Given the description of an element on the screen output the (x, y) to click on. 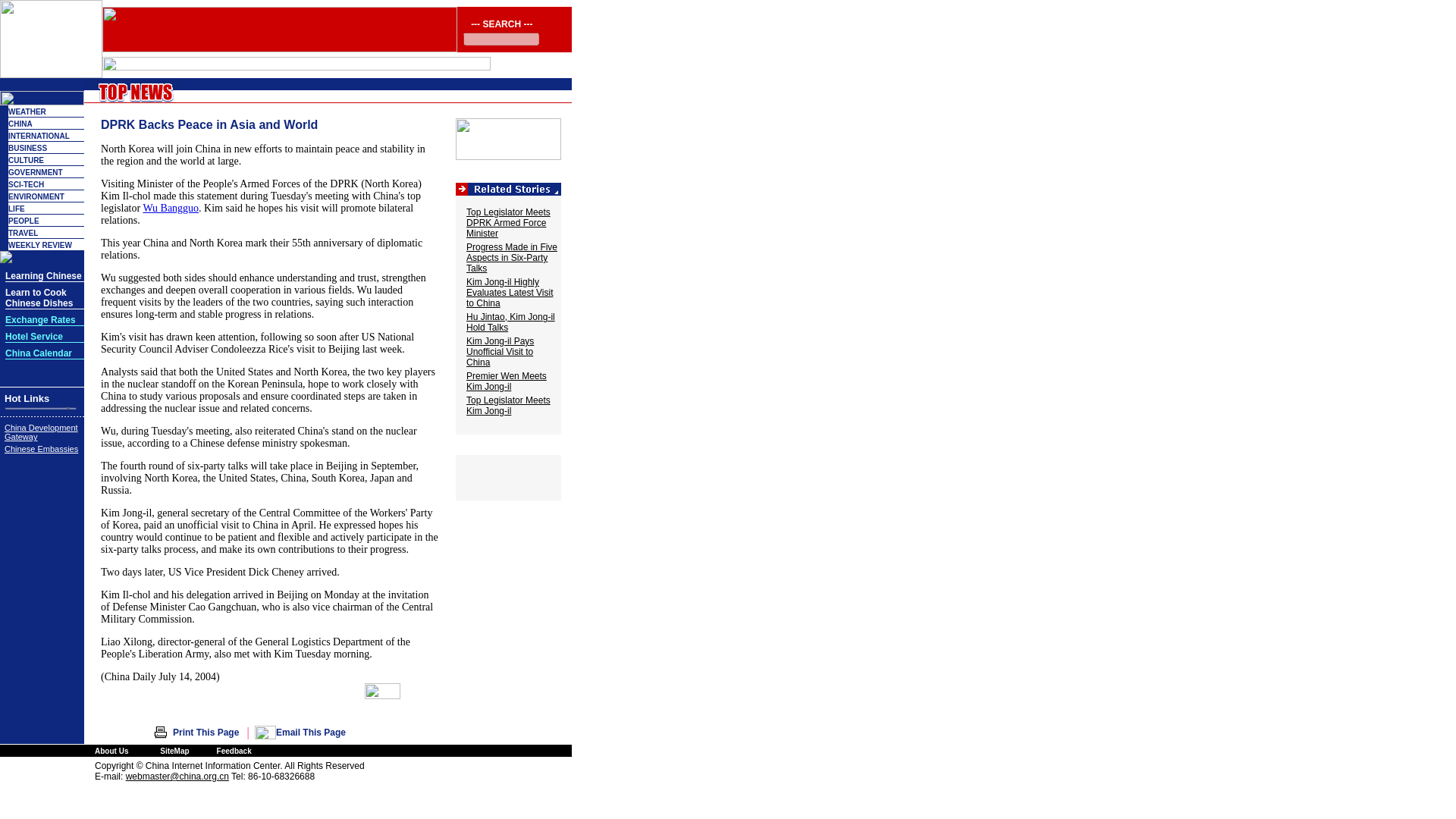
LIFE (16, 208)
WEATHER (27, 111)
ENVIRONMENT (36, 196)
Learn to Cook Chinese Dishes (38, 298)
Premier Wen Meets Kim Jong-il (506, 381)
Hu Jintao, Kim Jong-il Hold Talks (509, 322)
TRAVEL (22, 233)
BUSINESS (27, 148)
Email This Page (311, 732)
WEEKLY REVIEW (39, 244)
